Given the description of an element on the screen output the (x, y) to click on. 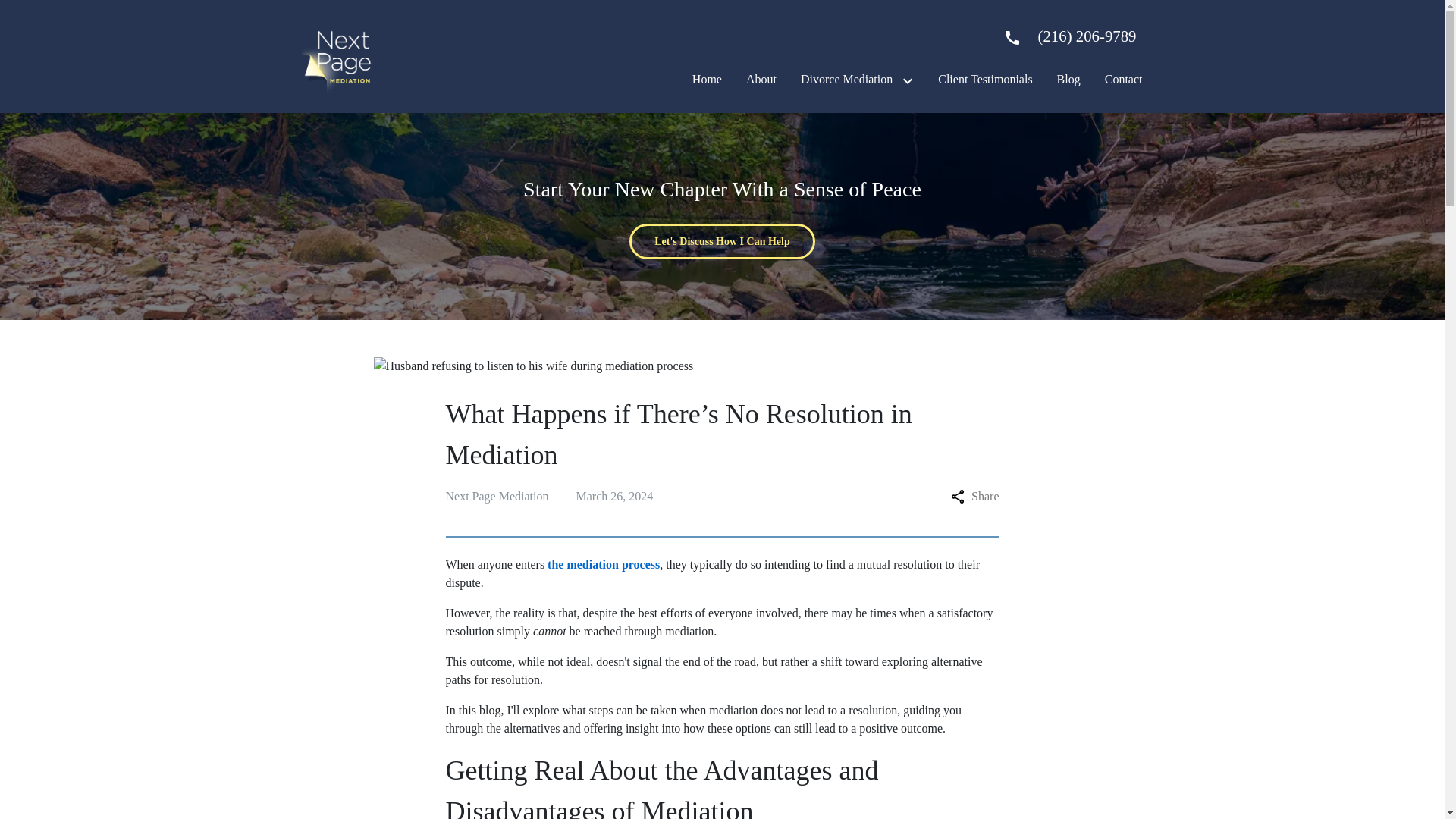
About (760, 78)
Client Testimonials (984, 78)
Contact (1123, 78)
Home (707, 78)
the mediation process (603, 563)
Divorce Mediation (846, 78)
Share (974, 496)
Let's Discuss How I Can Help (721, 241)
Blog (1068, 78)
